Given the description of an element on the screen output the (x, y) to click on. 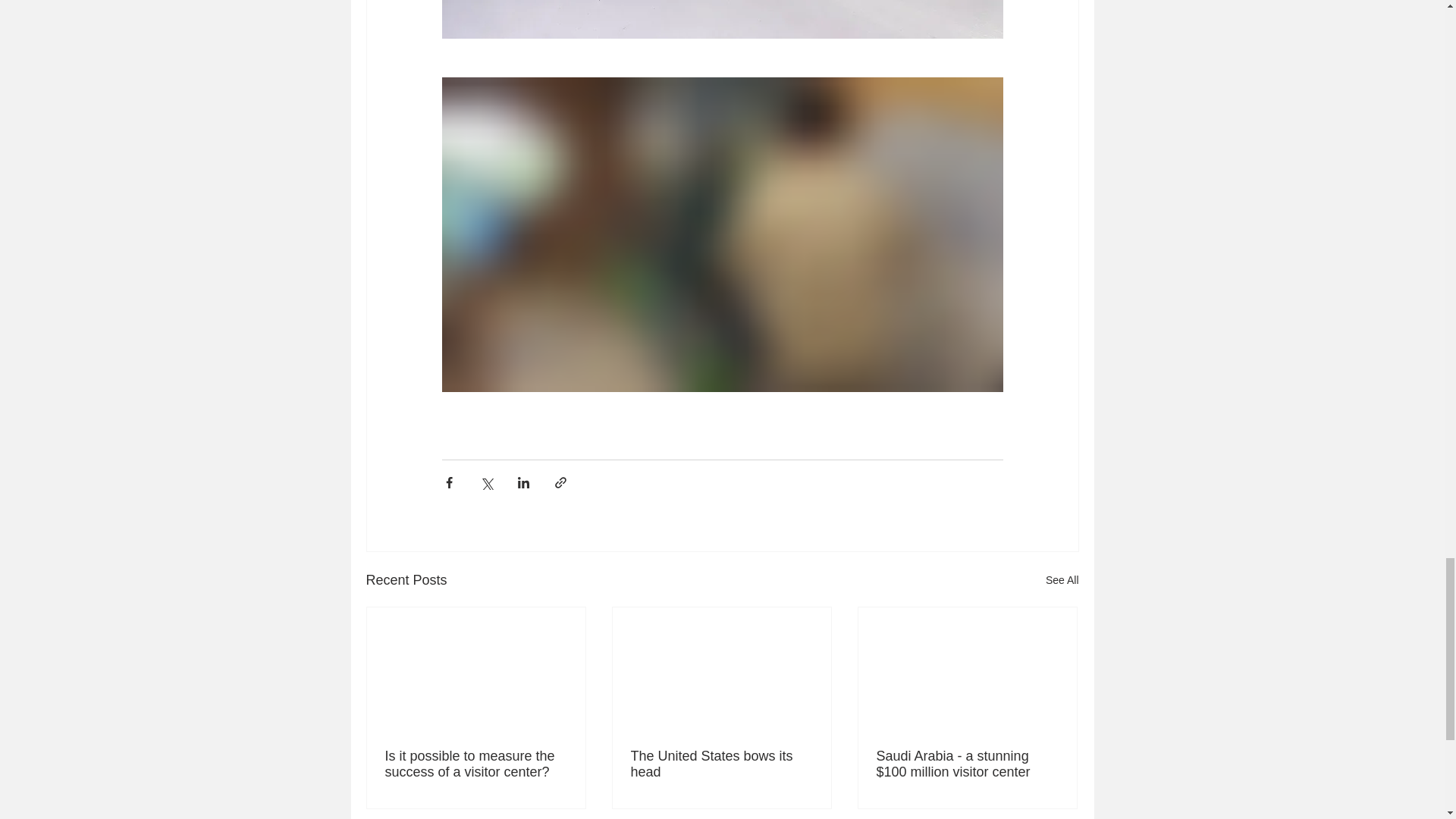
The United States bows its head (721, 764)
Is it possible to measure the success of a visitor center? (476, 764)
See All (1061, 580)
